Given the description of an element on the screen output the (x, y) to click on. 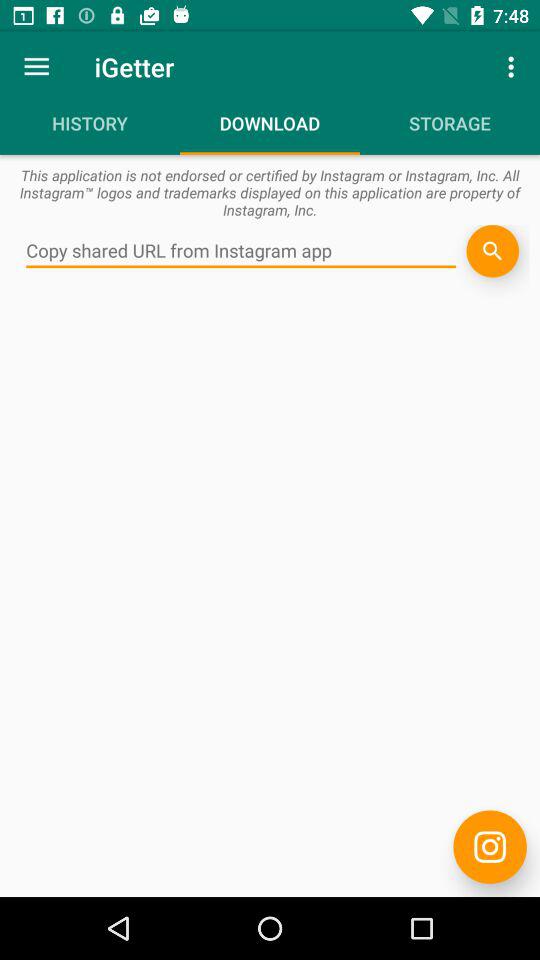
share on instagram (489, 846)
